Given the description of an element on the screen output the (x, y) to click on. 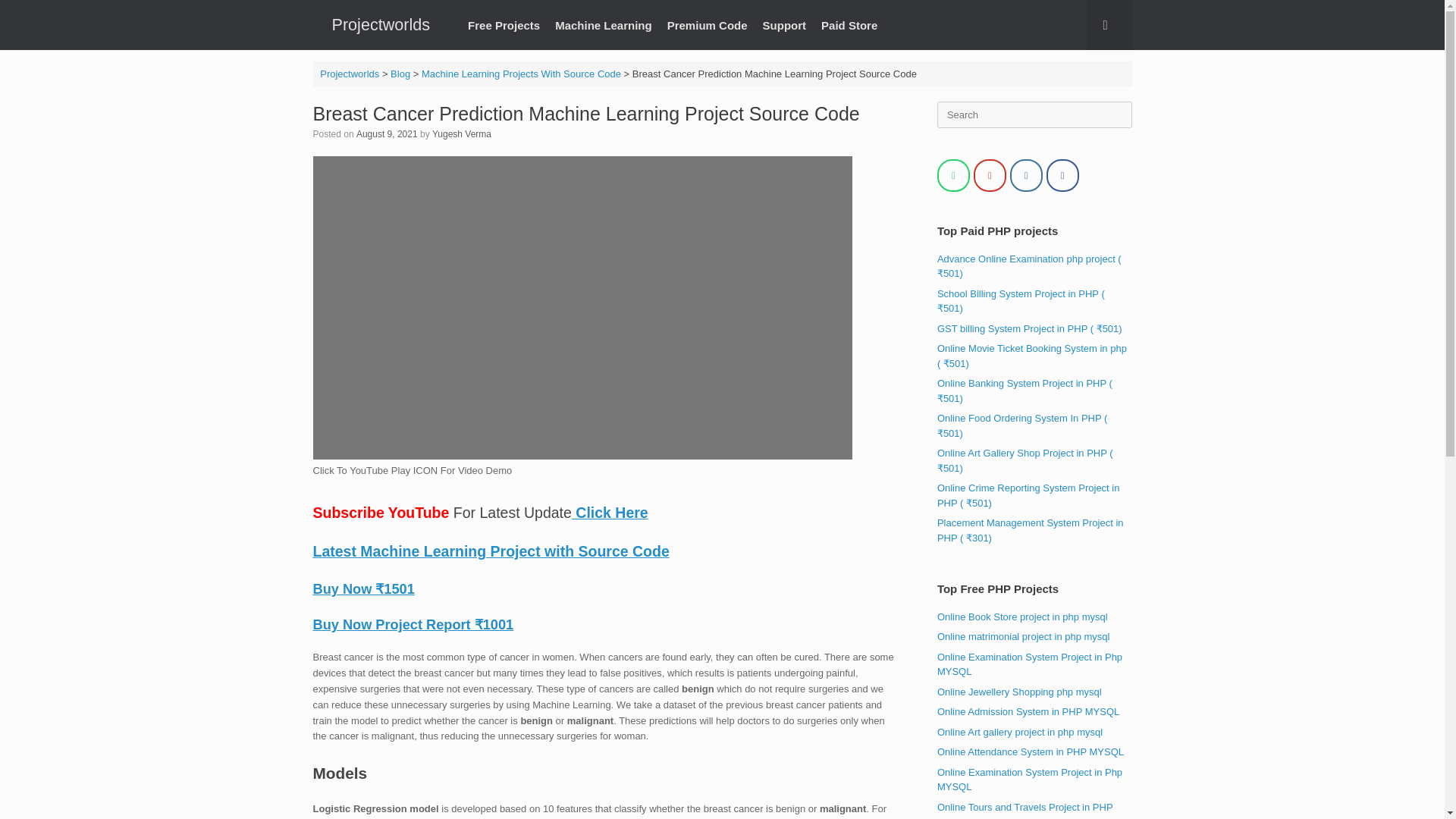
Online matrimonial project in php mysql (1023, 636)
Free Projects (503, 24)
Go to Projectworlds. (349, 73)
Yugesh Verma (462, 133)
Instagram (1026, 174)
Projectworlds (380, 24)
Facebook (1062, 174)
 Click Here (609, 512)
Projectworlds (349, 73)
YouTube (990, 174)
Machine Learning Projects With Source Code (521, 73)
Online Examination System Project in Php MYSQL (1029, 664)
Support (784, 24)
Projectworlds (380, 24)
